Given the description of an element on the screen output the (x, y) to click on. 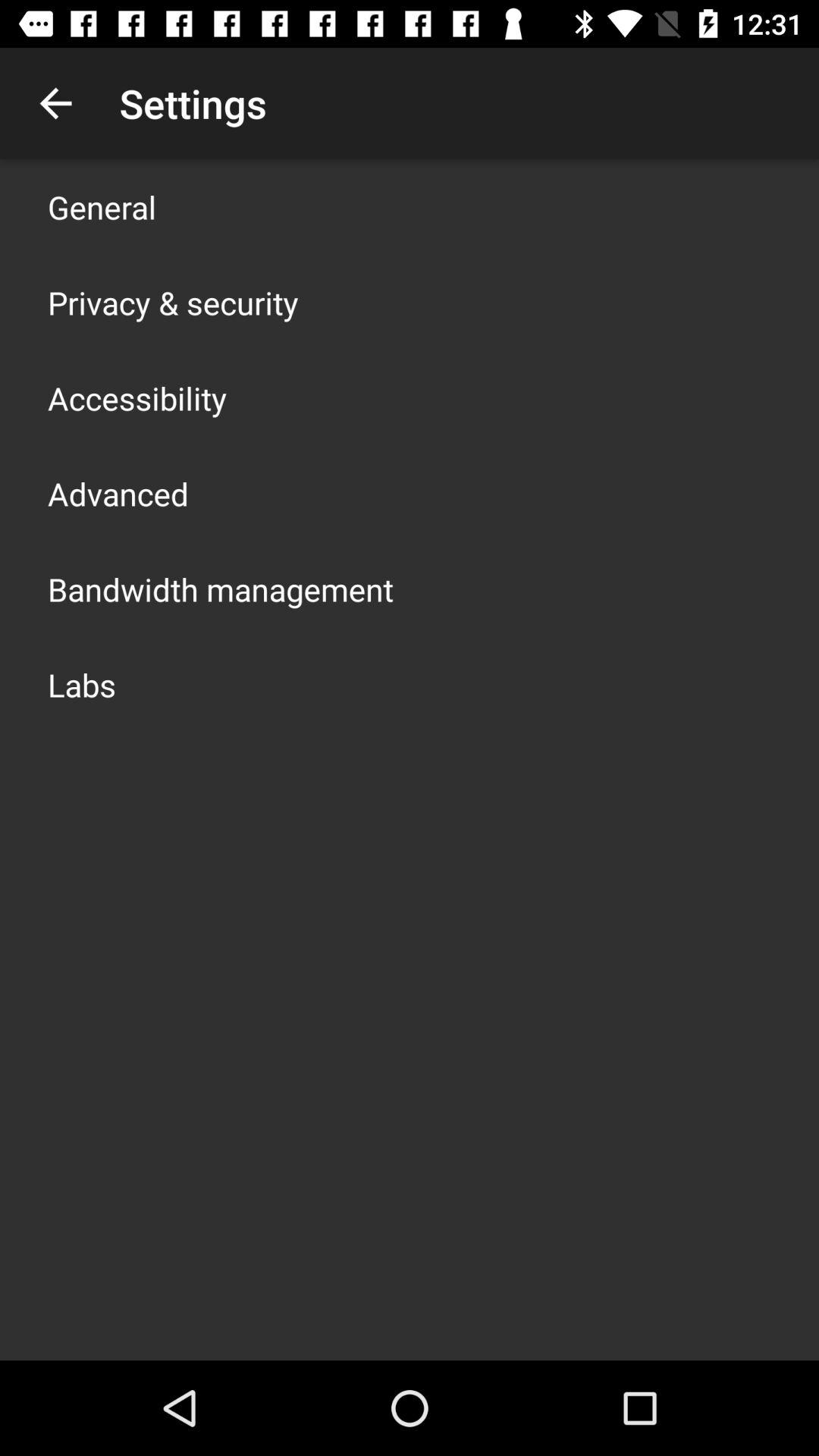
turn on labs icon (81, 684)
